Given the description of an element on the screen output the (x, y) to click on. 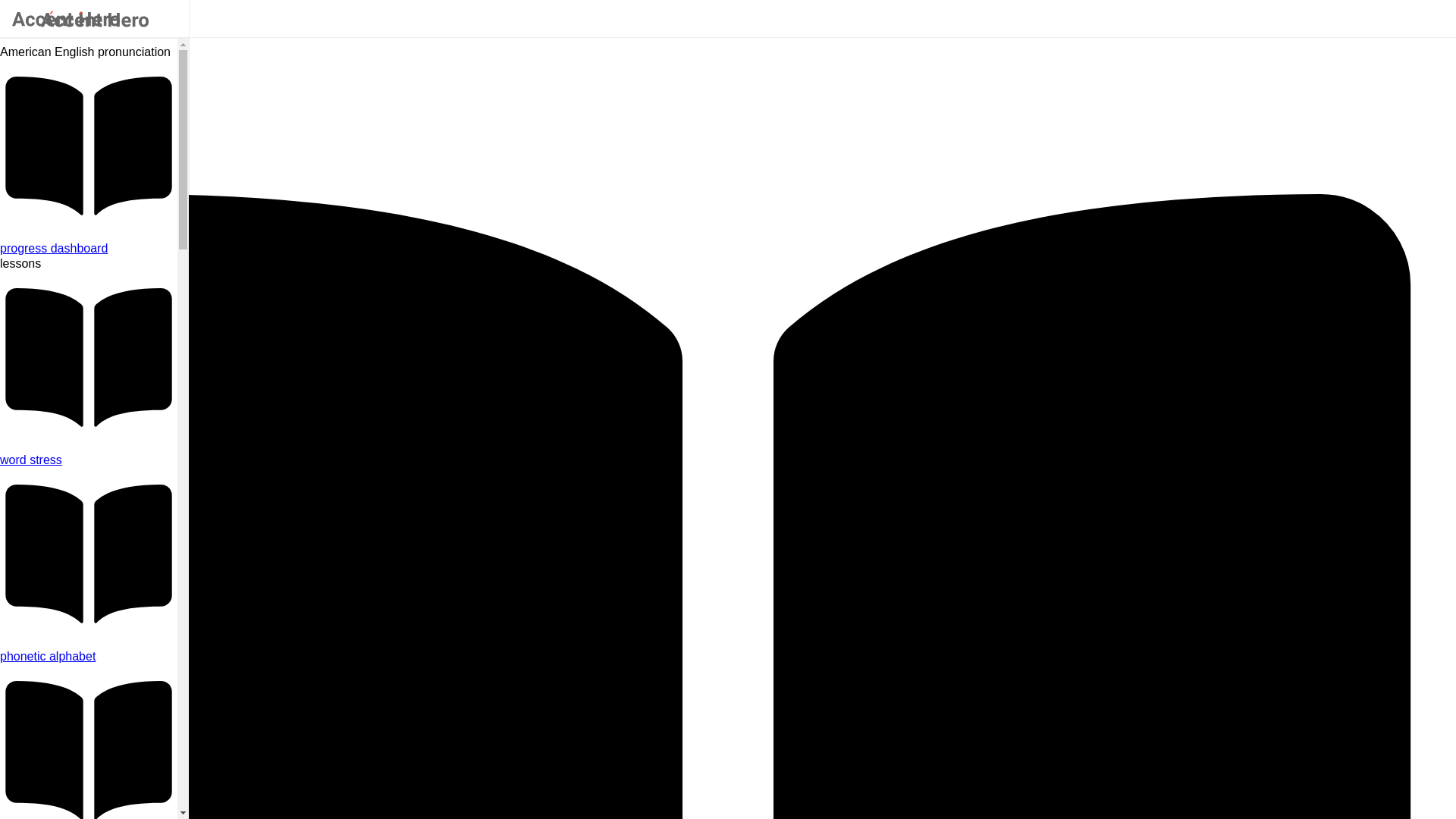
Learn to precisely articulate each sound (88, 656)
Learn how word stress influences your accent (88, 459)
